Given the description of an element on the screen output the (x, y) to click on. 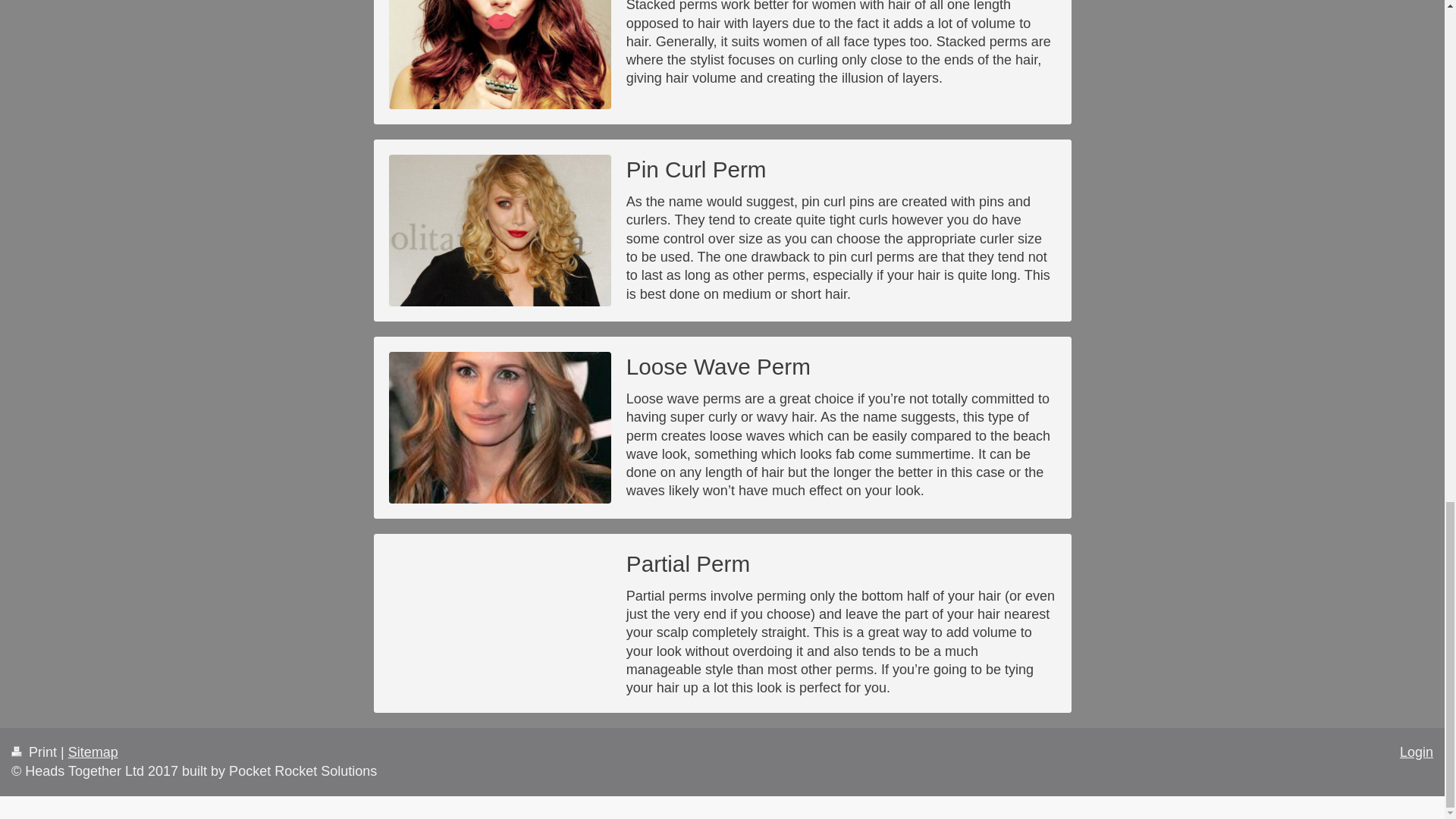
Sitemap (92, 752)
Login (1415, 752)
Print (36, 752)
